Given the description of an element on the screen output the (x, y) to click on. 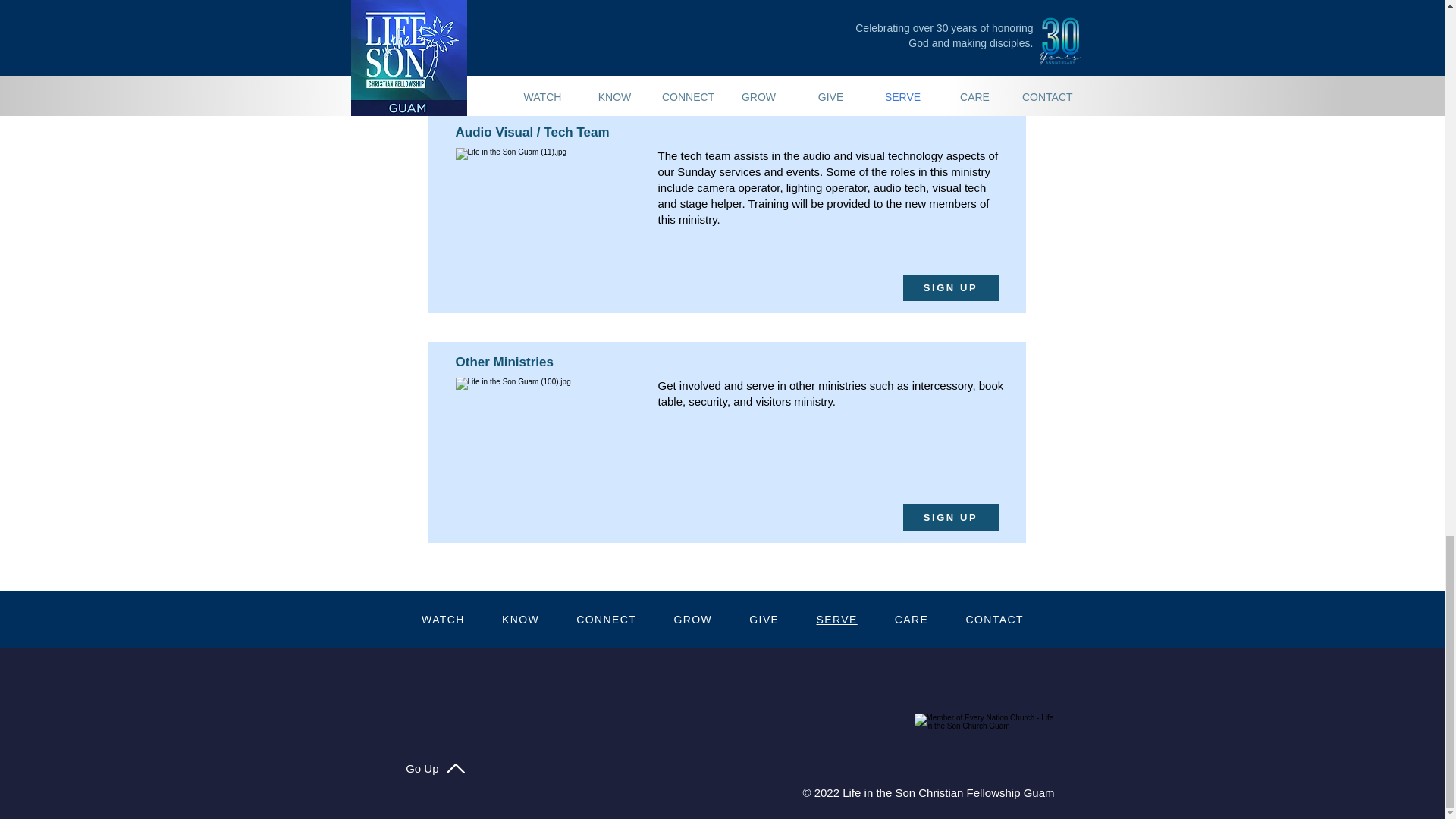
CONNECT (606, 619)
CONTACT (994, 619)
KNOW (520, 619)
SERVE (836, 619)
GIVE (763, 619)
WATCH (443, 619)
Life Groups Leaders-17.png (546, 433)
SIGN UP (949, 287)
CARE (911, 619)
Life Groups Leaders-17.png (546, 204)
Life Groups Leaders-17.png (546, 15)
GROW (693, 619)
SIGN UP (949, 517)
SIGN UP (949, 58)
